Given the description of an element on the screen output the (x, y) to click on. 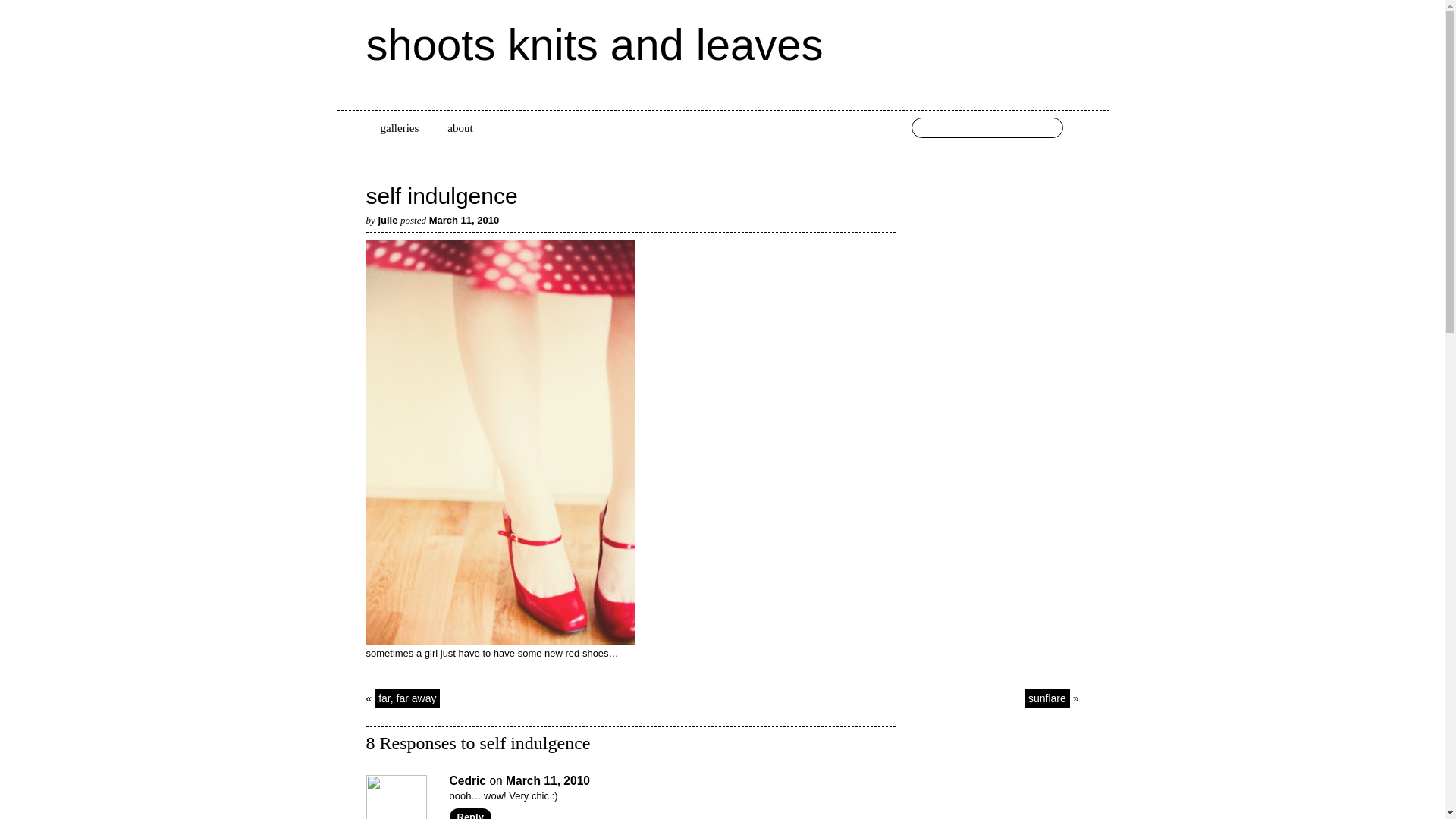
Cedric (467, 780)
galleries (398, 128)
about (459, 128)
far, far away (406, 698)
March 11, 2010 (547, 780)
Reply (469, 813)
shoots knits and leaves (593, 43)
sunflare (1047, 698)
